Given the description of an element on the screen output the (x, y) to click on. 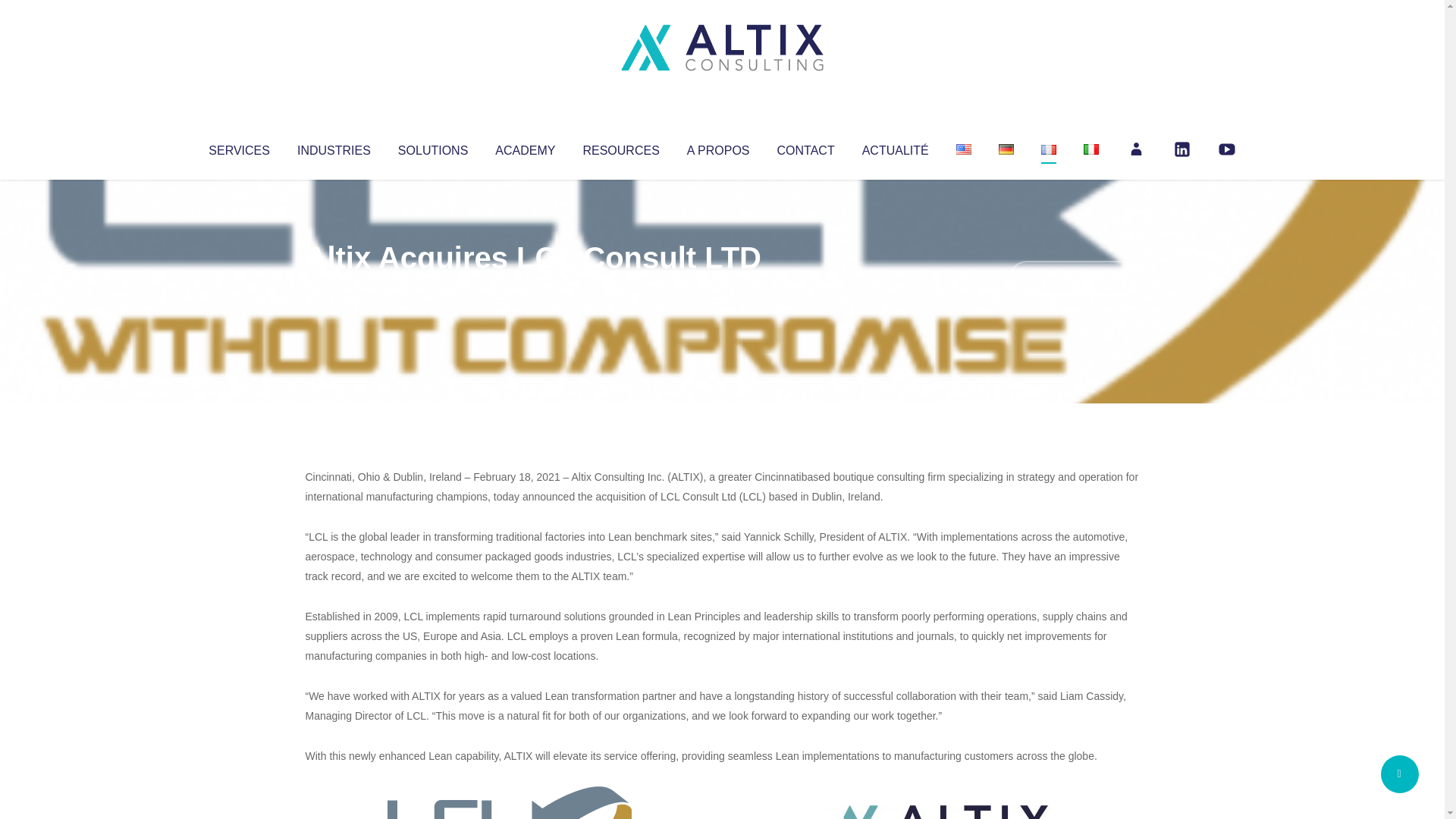
A PROPOS (718, 146)
No Comments (1073, 278)
Uncategorized (530, 287)
RESOURCES (620, 146)
SOLUTIONS (432, 146)
Altix (333, 287)
Articles par Altix (333, 287)
INDUSTRIES (334, 146)
ACADEMY (524, 146)
SERVICES (238, 146)
